Given the description of an element on the screen output the (x, y) to click on. 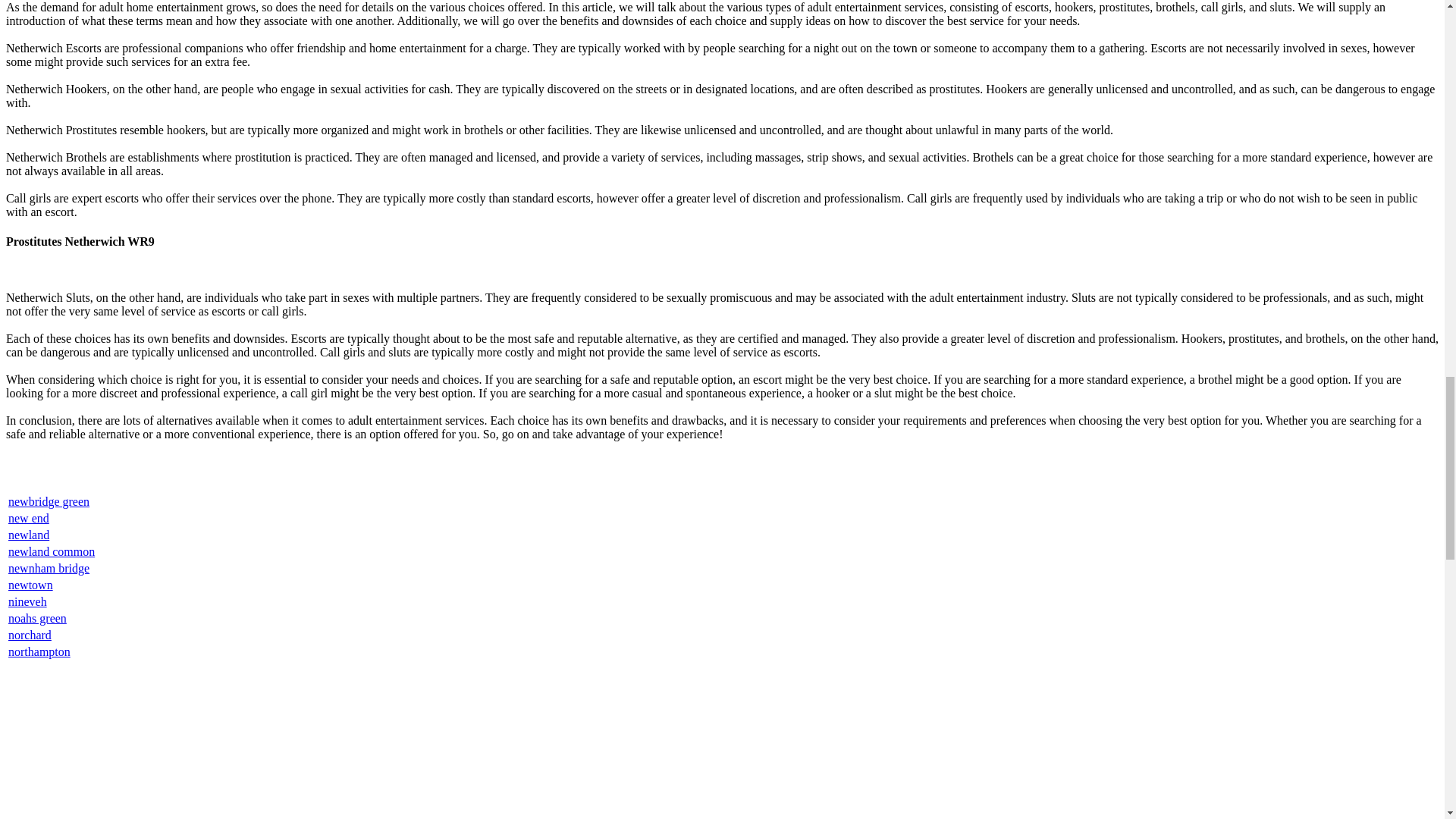
northampton (38, 651)
newland common (51, 551)
noahs green (37, 617)
newnham bridge (48, 567)
norchard (29, 634)
newland (28, 534)
new end (28, 517)
newtown (30, 584)
nineveh (27, 601)
newbridge green (48, 501)
